Given the description of an element on the screen output the (x, y) to click on. 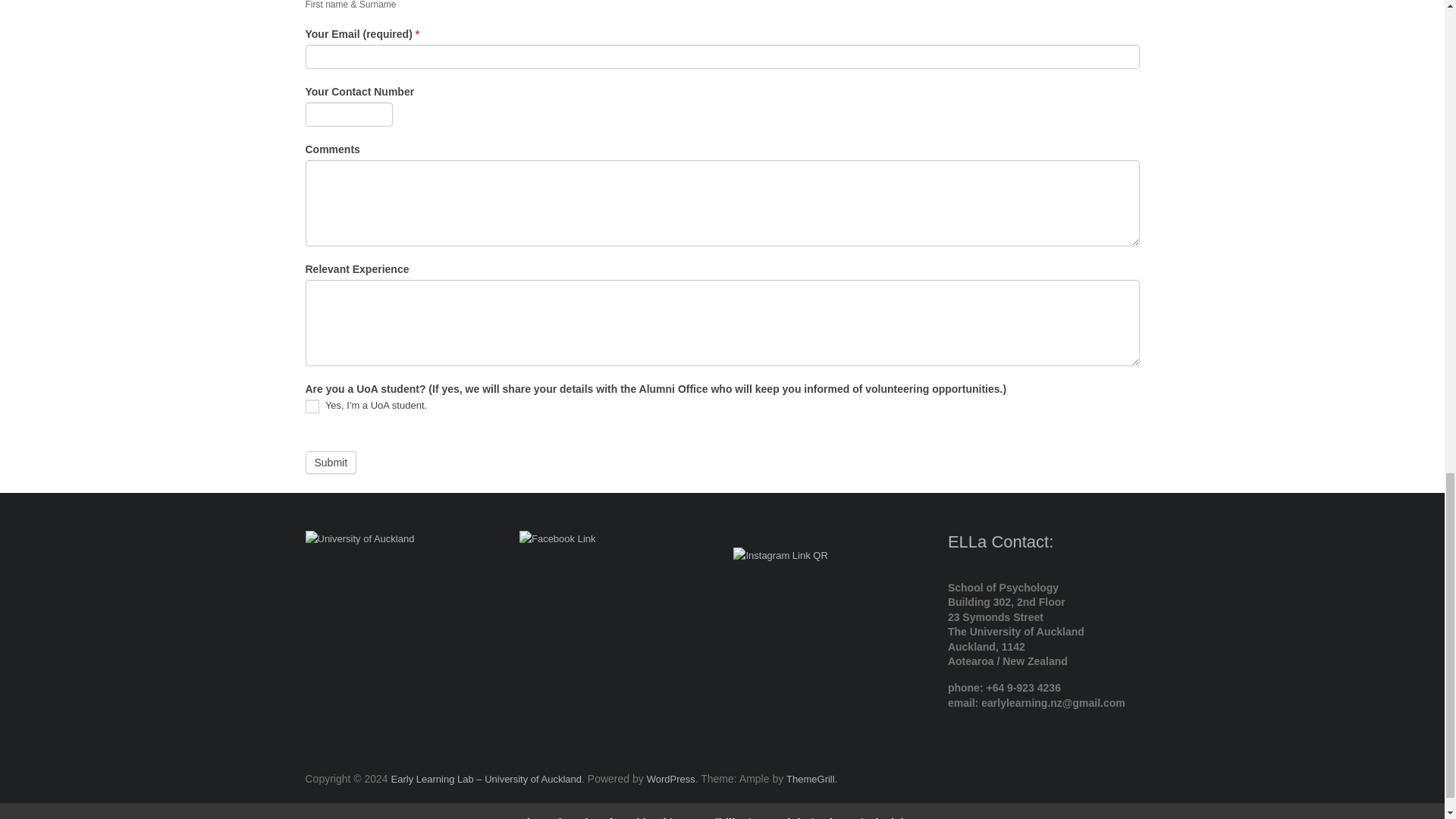
Yes, I'm a UoA student. (311, 406)
WordPress (670, 778)
ThemeGrill (810, 778)
Submit (330, 462)
WordPress (670, 778)
ThemeGrill (810, 778)
Submit (330, 462)
